Given the description of an element on the screen output the (x, y) to click on. 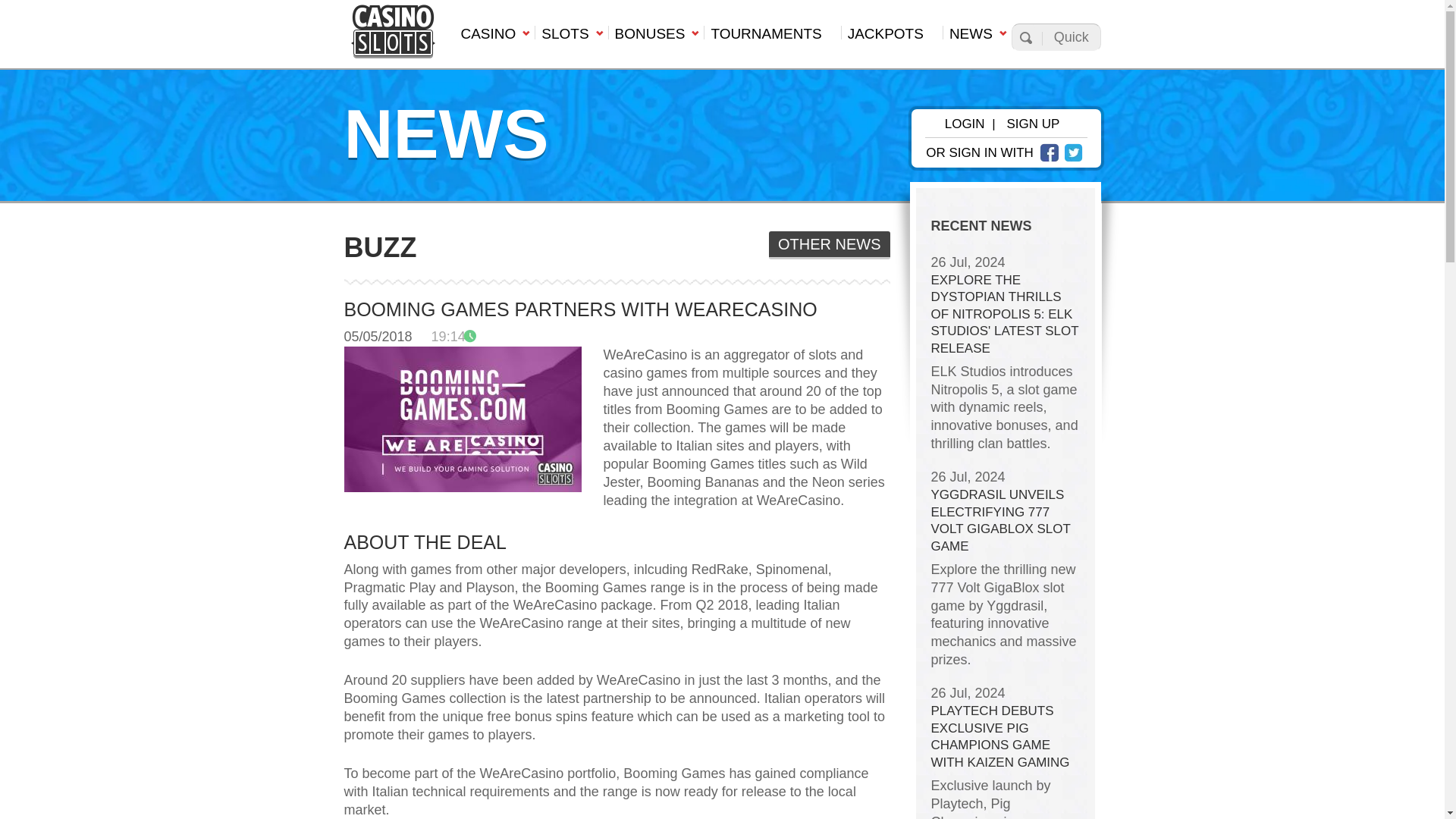
TOURNAMENTS (771, 37)
NEWS (976, 37)
SIGN UP (1032, 124)
OTHER NEWS (828, 244)
BONUSES (656, 37)
SLOTS (570, 37)
JACKPOTS (891, 37)
CASINO (493, 37)
